Given the description of an element on the screen output the (x, y) to click on. 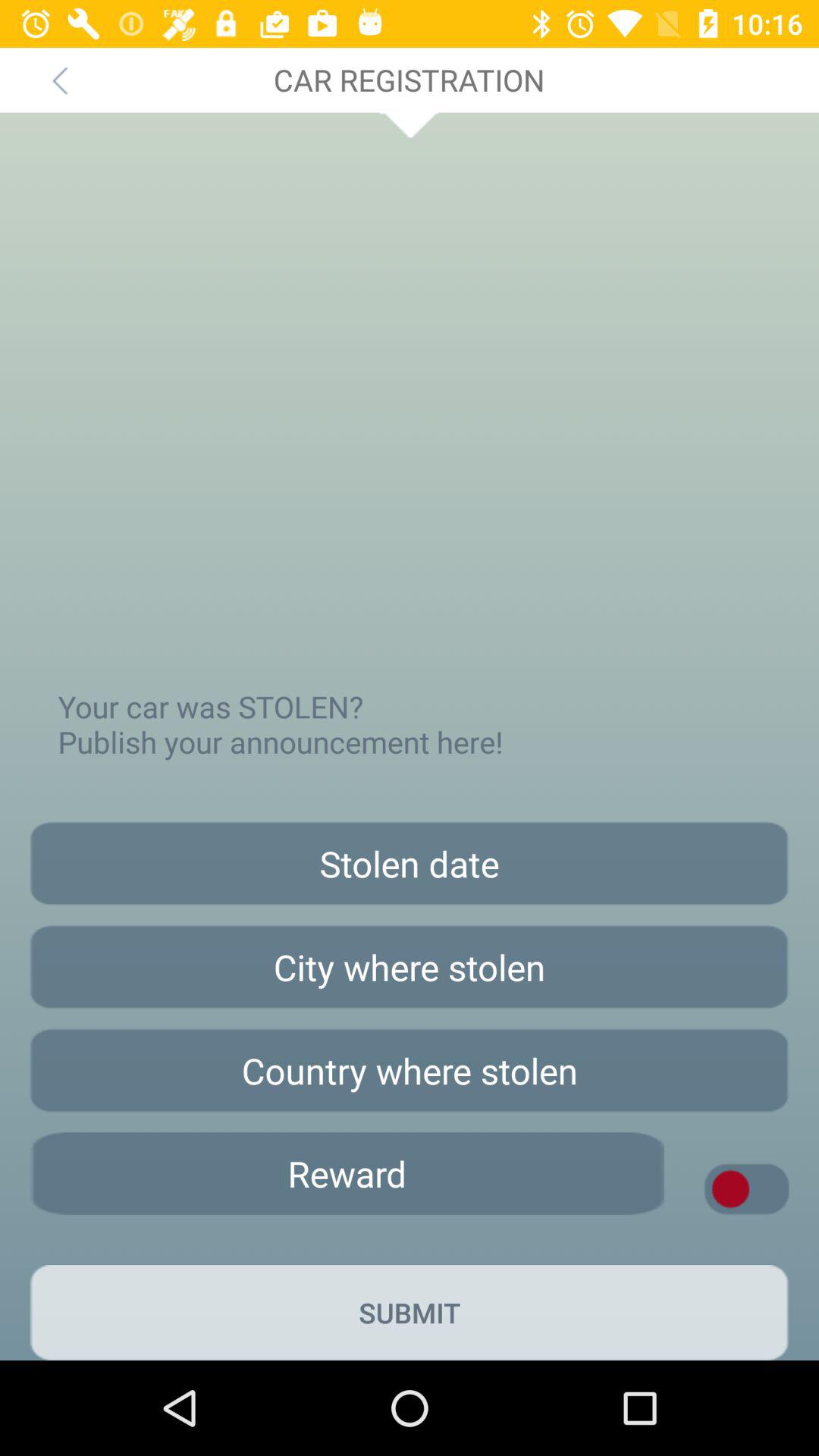
the button is used to go back (59, 79)
